Given the description of an element on the screen output the (x, y) to click on. 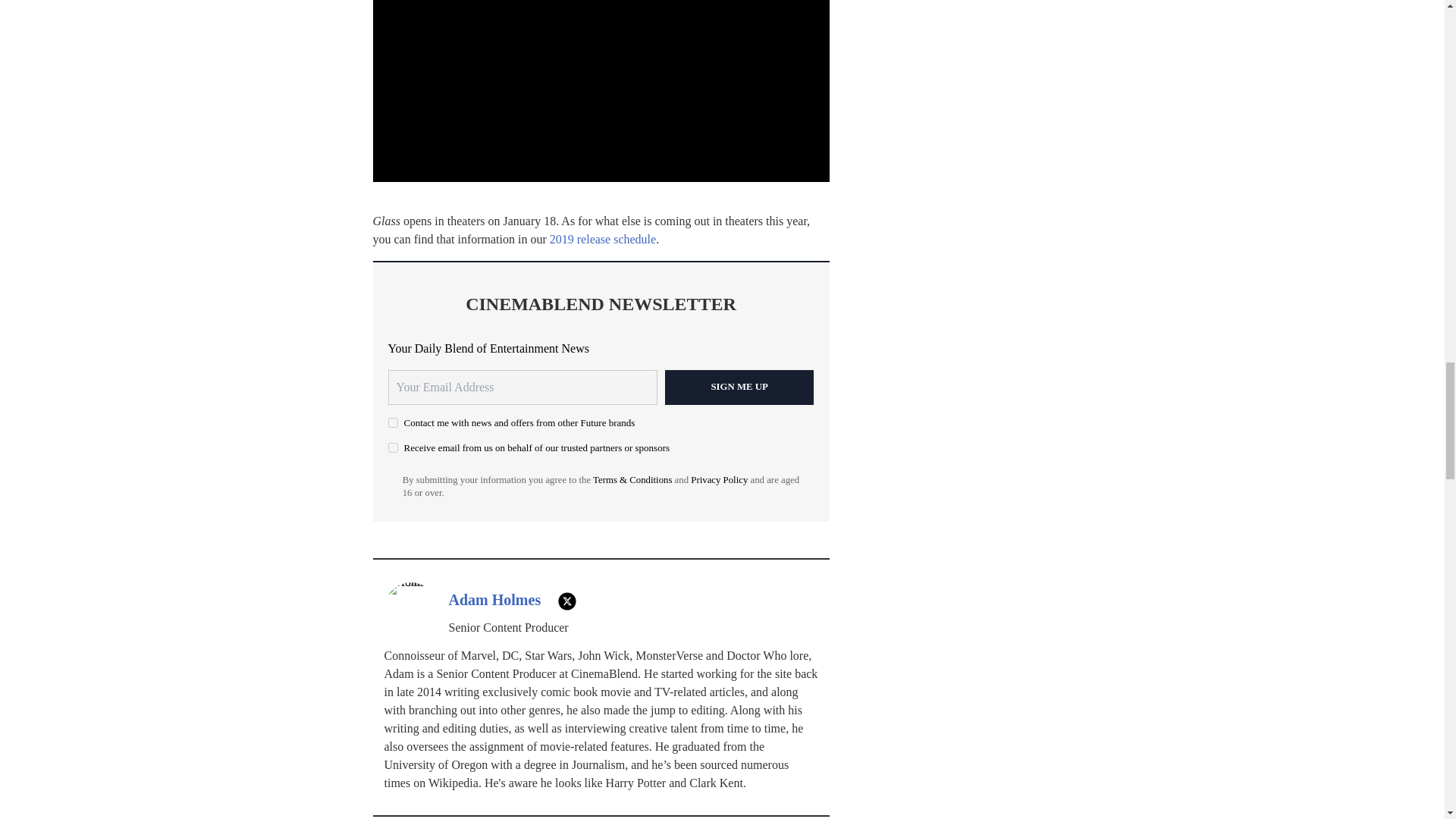
Sign me up (739, 387)
on (392, 422)
on (392, 447)
